Given the description of an element on the screen output the (x, y) to click on. 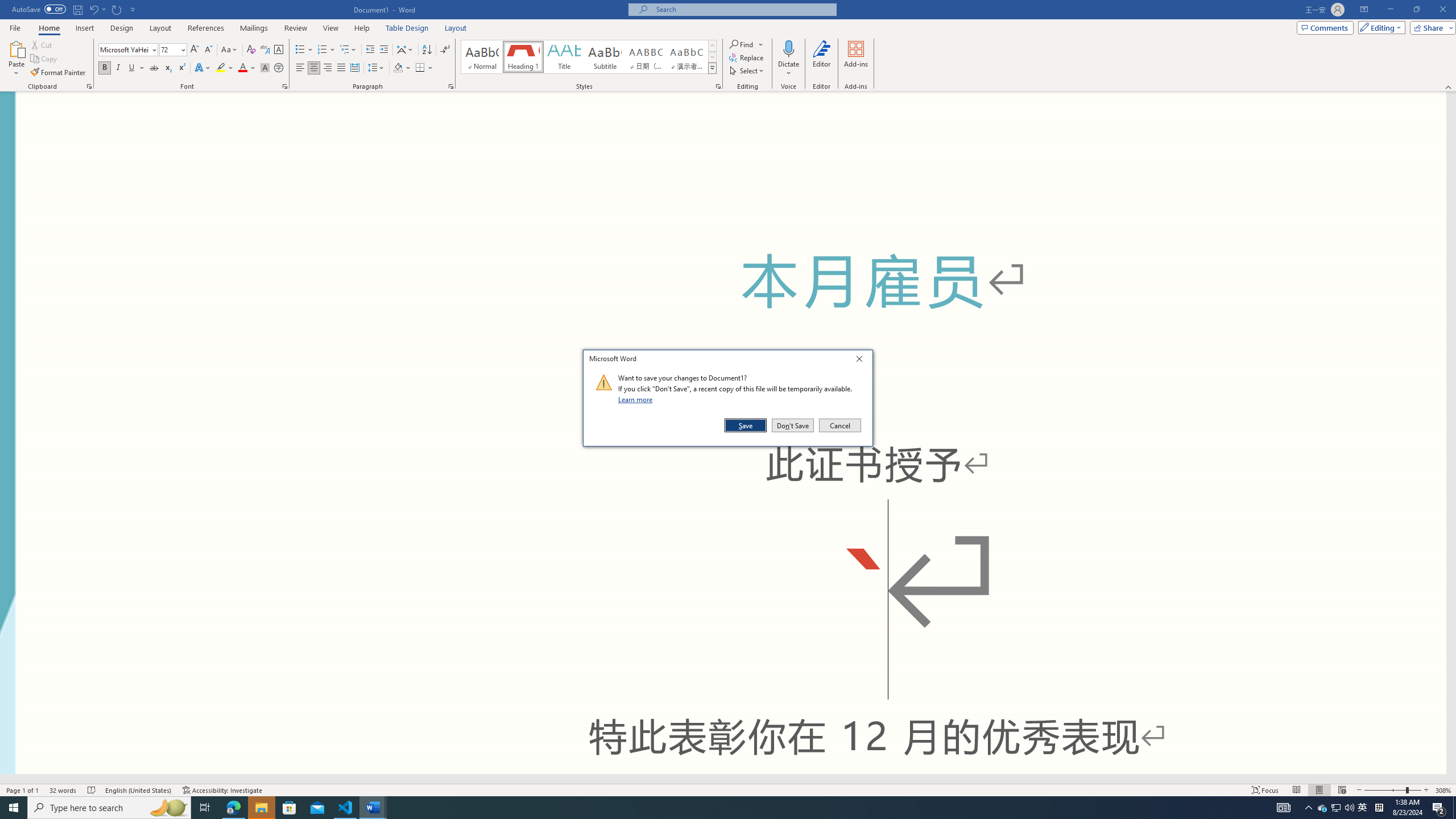
Heading 1 (522, 56)
Text Effects and Typography (202, 67)
Subscript (167, 67)
AutomationID: 4105 (1283, 807)
Styles... (717, 85)
Show desktop (1454, 807)
